Given the description of an element on the screen output the (x, y) to click on. 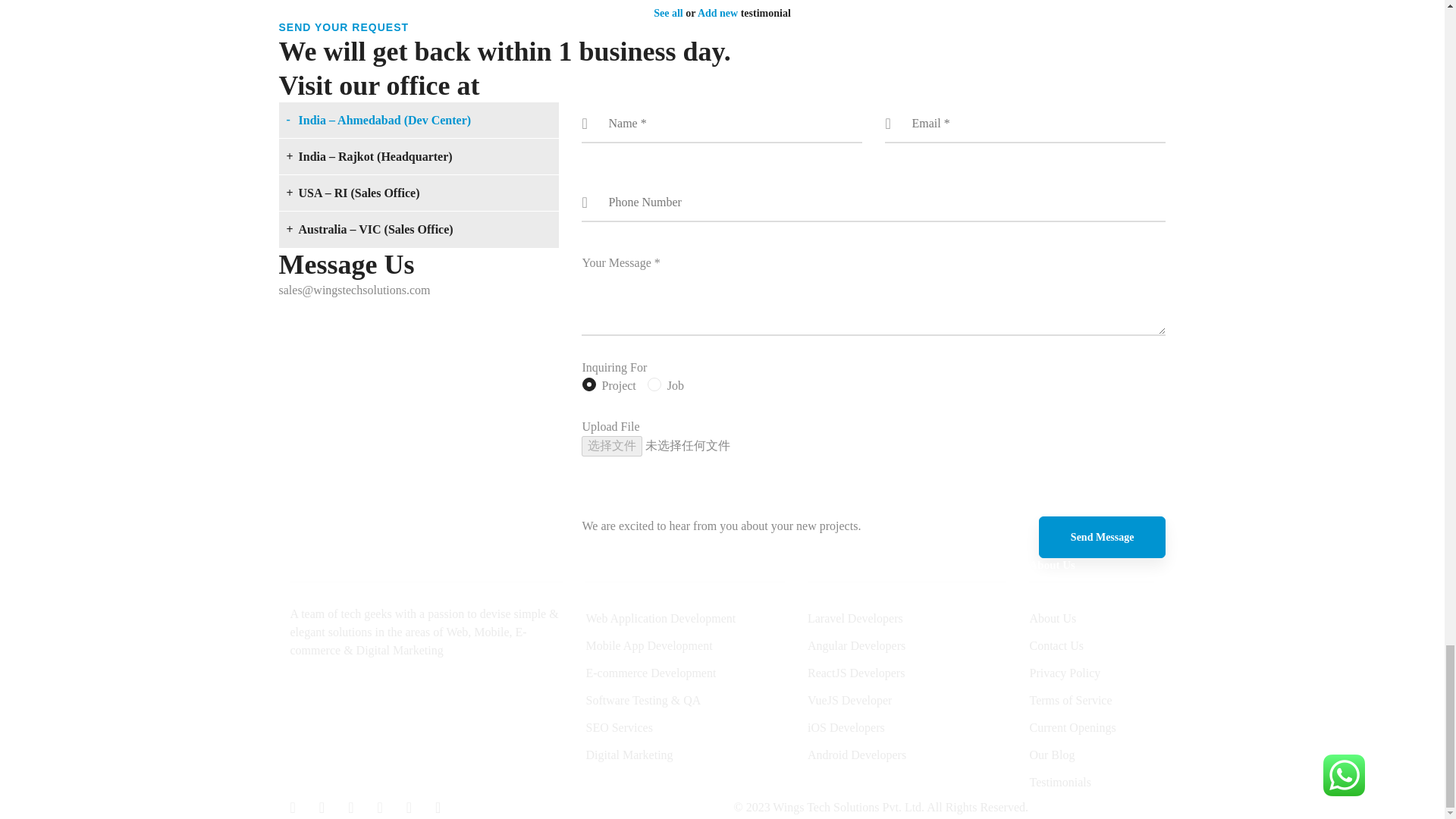
Project (588, 384)
Job (654, 384)
Send Message (1102, 536)
